Given the description of an element on the screen output the (x, y) to click on. 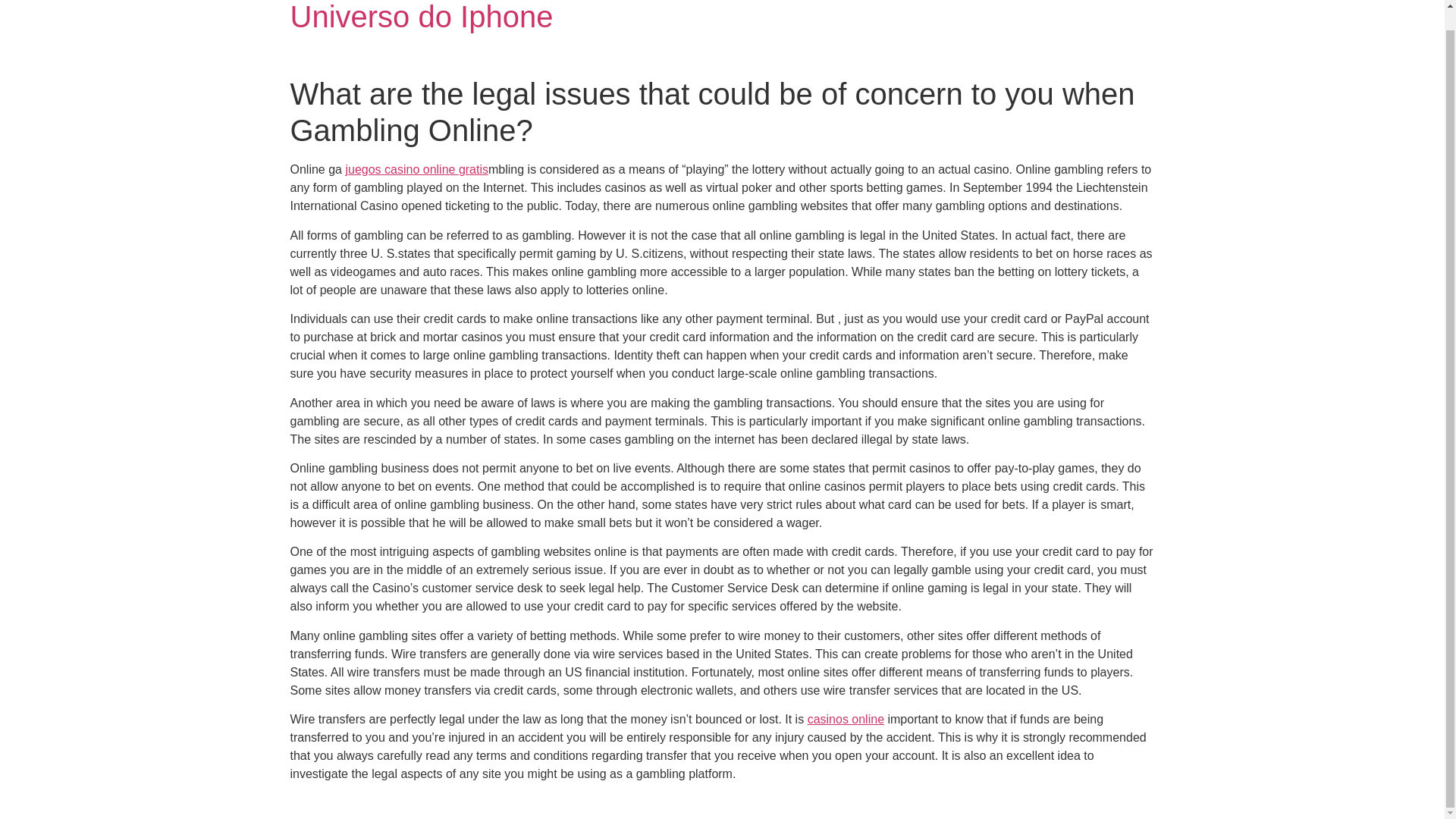
Universo do Iphone (421, 16)
juegos casino online gratis (416, 169)
casinos online (845, 718)
Inicial (421, 16)
